Given the description of an element on the screen output the (x, y) to click on. 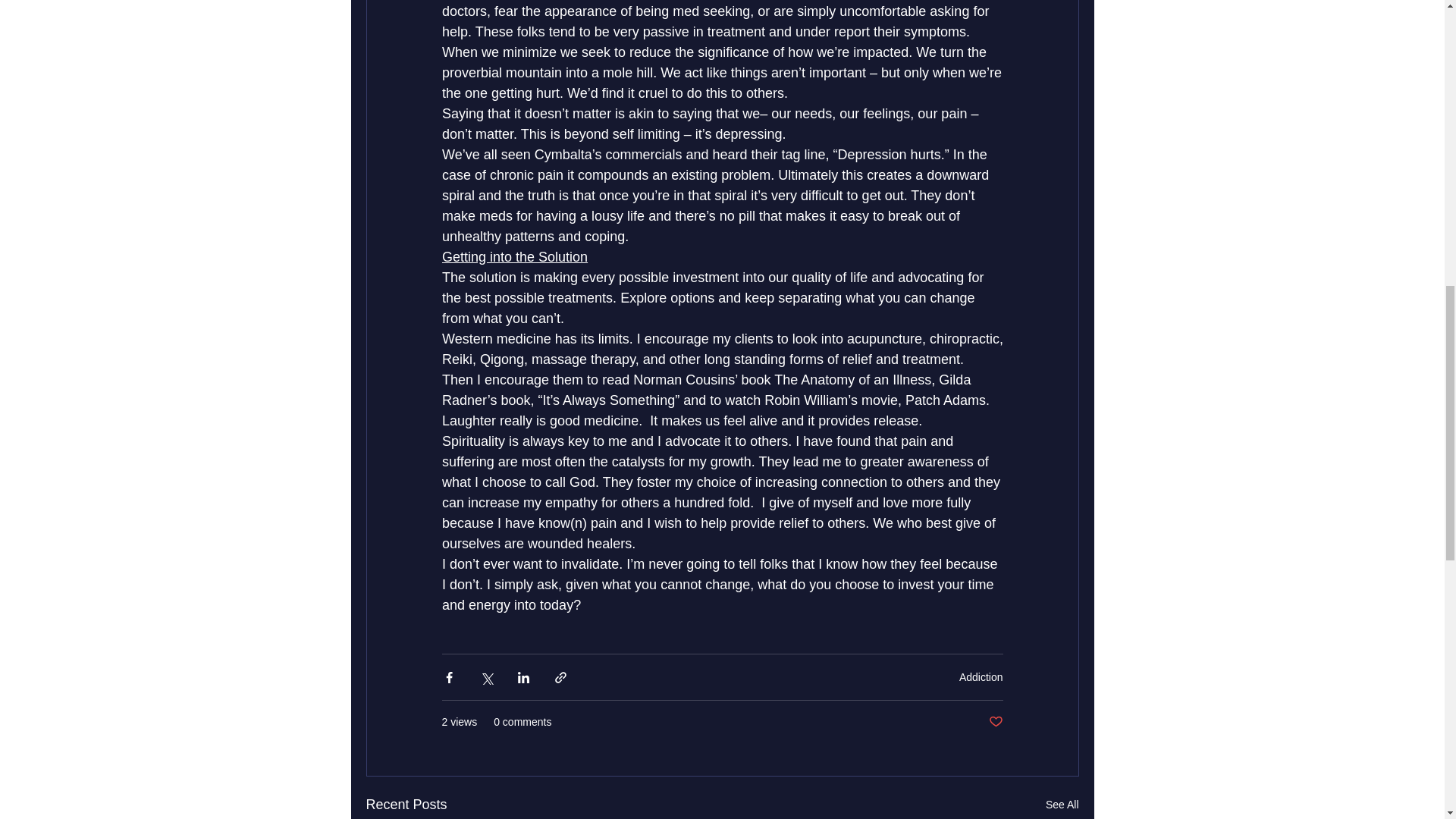
Addiction (981, 676)
See All (1061, 804)
Post not marked as liked (995, 722)
